Given the description of an element on the screen output the (x, y) to click on. 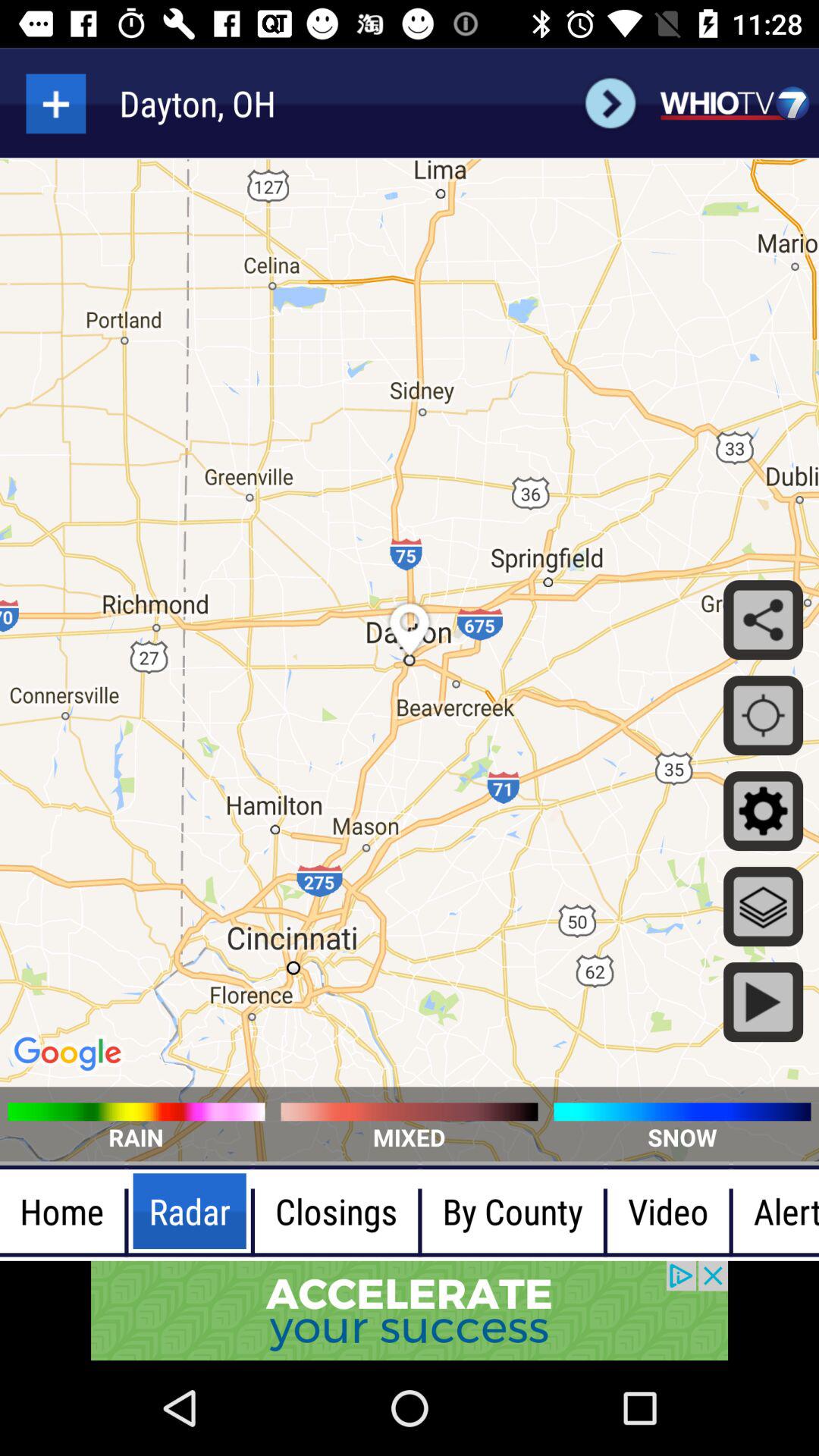
add city (55, 103)
